Given the description of an element on the screen output the (x, y) to click on. 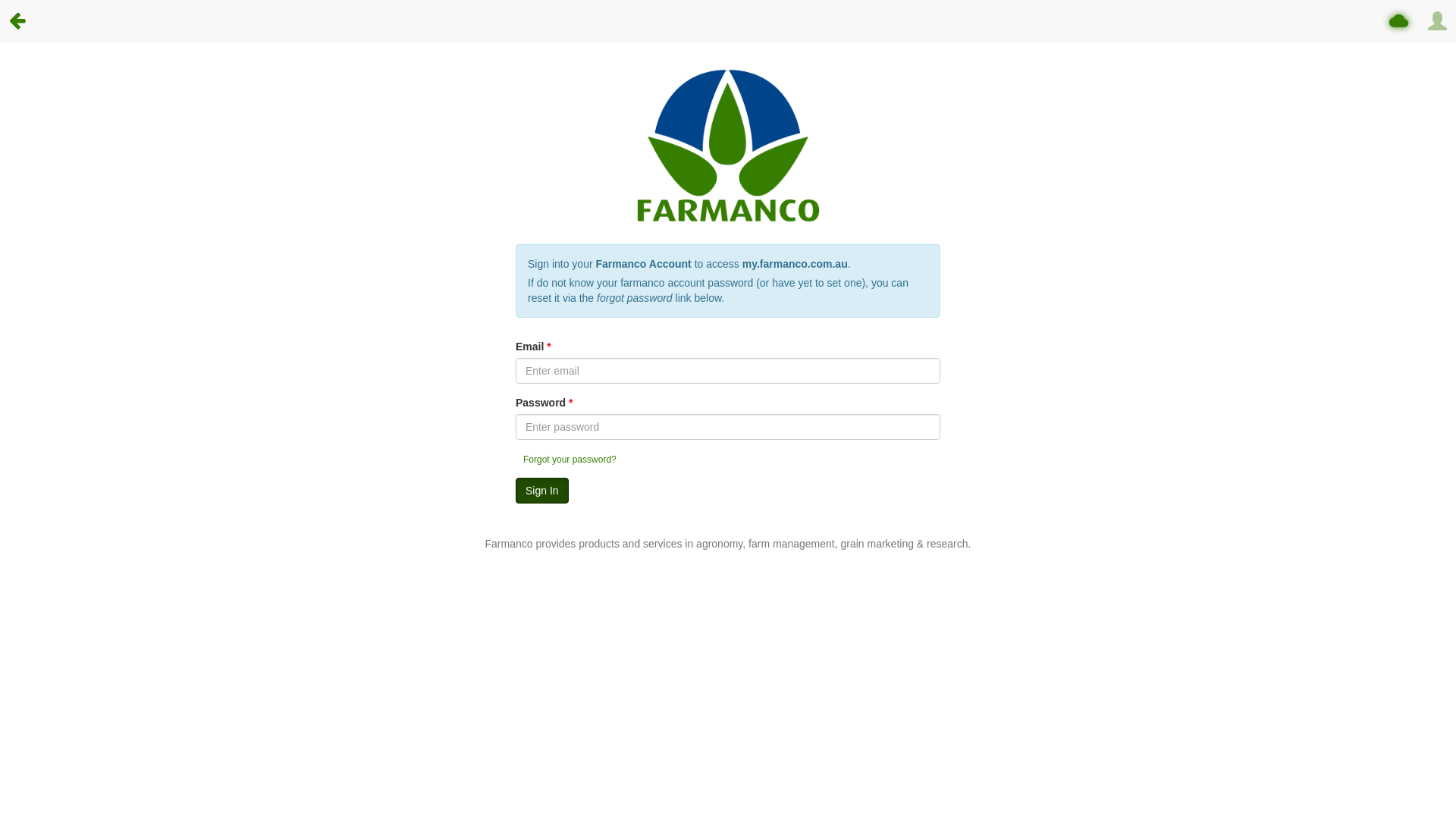
Sign In Element type: text (541, 490)
Forgot your password? Element type: text (569, 459)
